Given the description of an element on the screen output the (x, y) to click on. 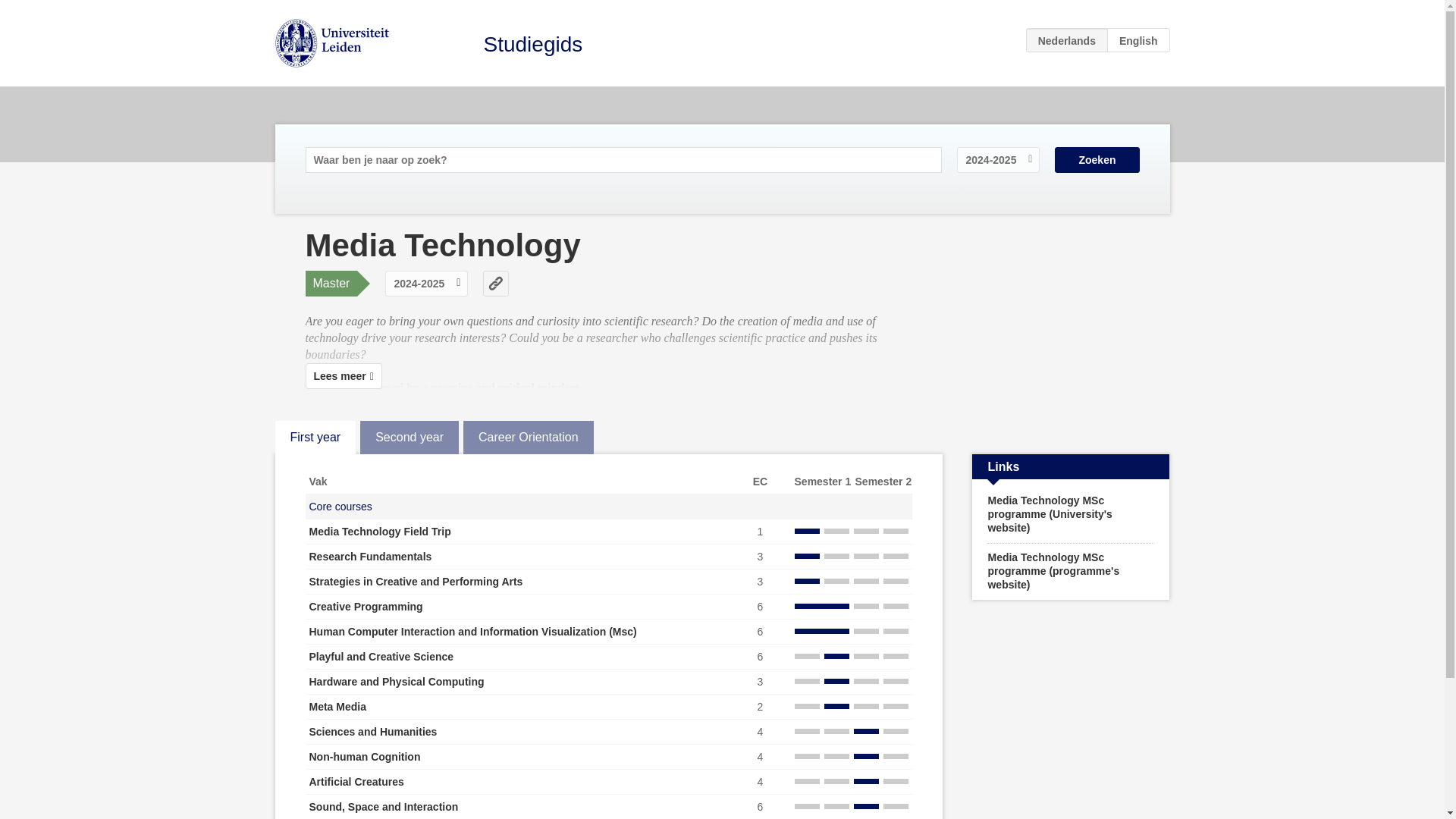
Creative Programming (365, 606)
Strategies in Creative and Performing Arts (415, 581)
EN (1138, 39)
Studiegids (533, 44)
Playful and Creative Science (381, 656)
Meta Media (337, 706)
Media Technology Field Trip (379, 531)
Artificial Creatures (356, 781)
Zoeken (1096, 159)
Lees meer (342, 376)
